Given the description of an element on the screen output the (x, y) to click on. 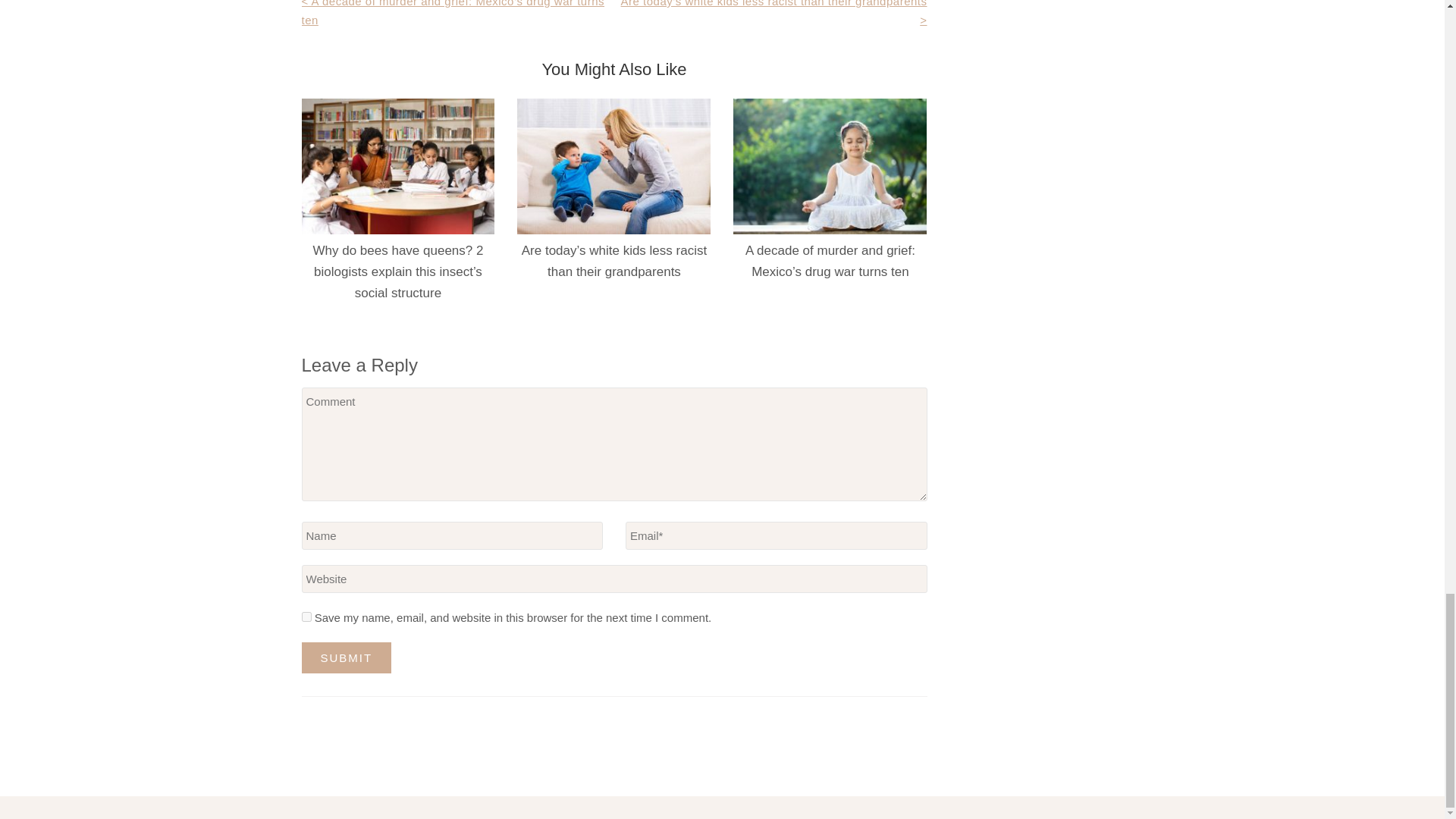
yes (306, 616)
Submit (346, 657)
Submit (346, 657)
